Given the description of an element on the screen output the (x, y) to click on. 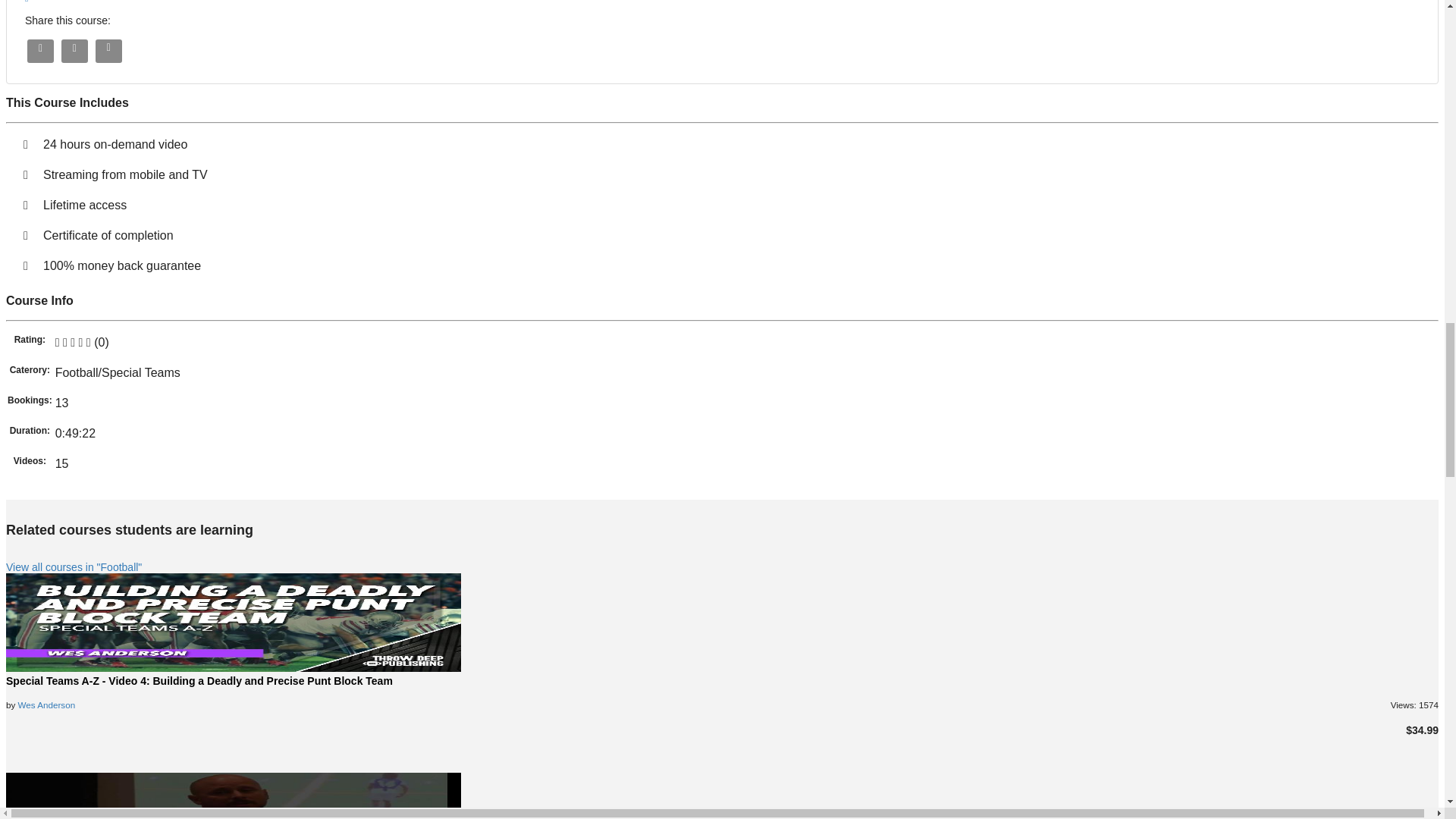
Ball State Special Teams Philosophy by Cory Connolly (233, 796)
Wes Anderson (46, 705)
